Given the description of an element on the screen output the (x, y) to click on. 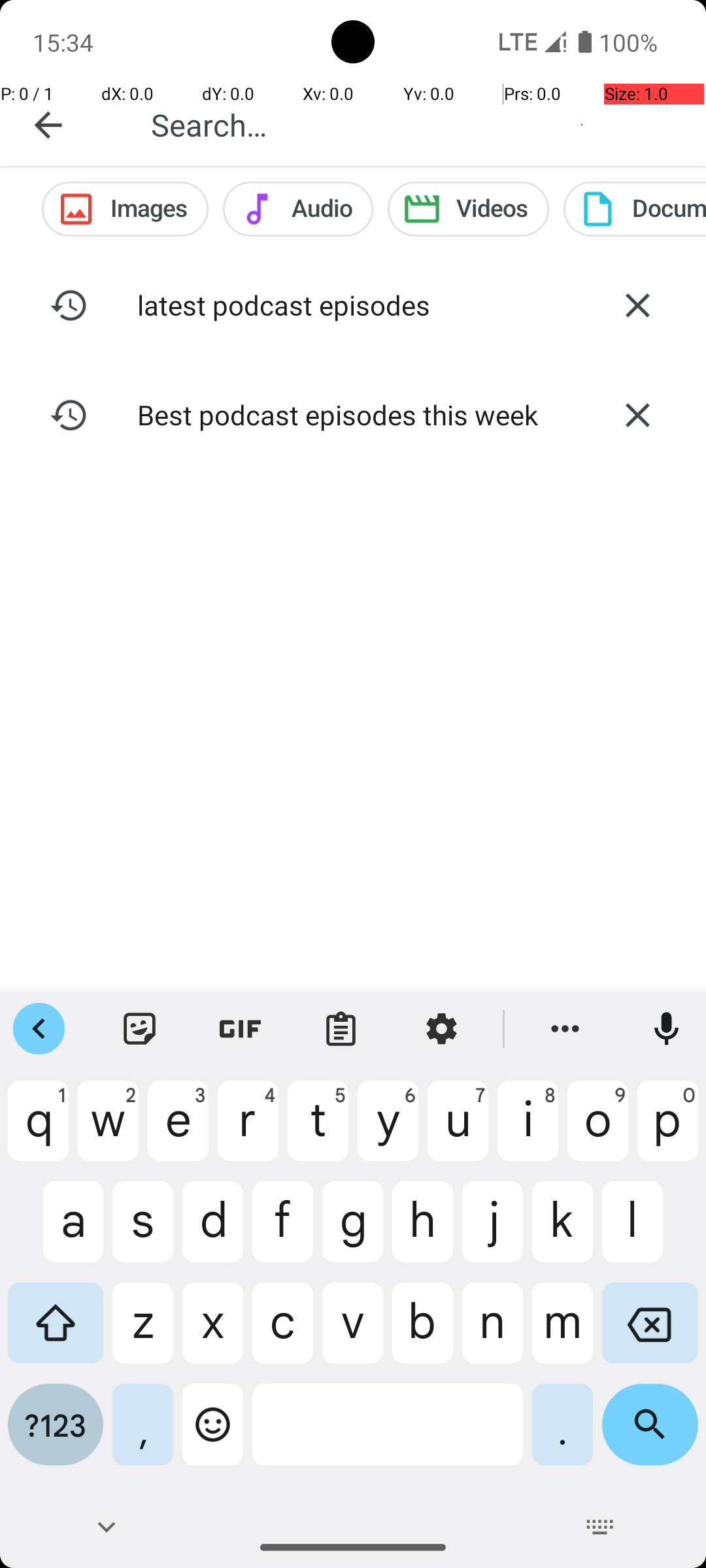
latest podcast episodes Element type: android.widget.TextView (352, 304)
Delete search history latest podcast episodes Element type: android.widget.ImageView (637, 304)
Best podcast episodes this week Element type: android.widget.TextView (352, 414)
Delete search history Best podcast episodes this week Element type: android.widget.ImageView (637, 414)
